Given the description of an element on the screen output the (x, y) to click on. 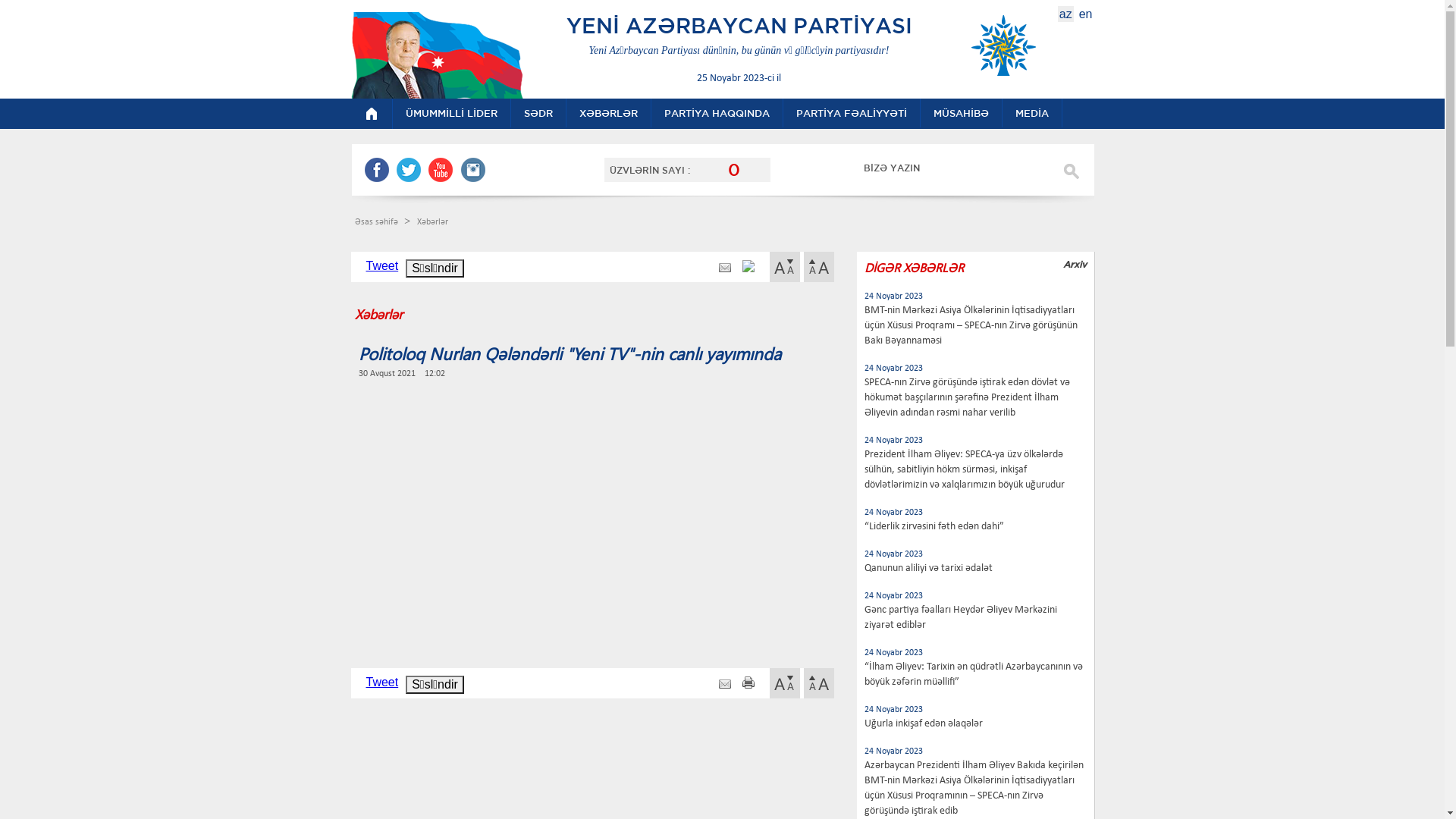
print Element type: hover (747, 267)
Tweet Element type: text (381, 681)
en Element type: text (1085, 13)
print Element type: hover (747, 683)
az Element type: text (1065, 13)
Arxiv Element type: text (1074, 264)
YouTube video player Element type: hover (574, 514)
Tweet Element type: text (381, 265)
